Given the description of an element on the screen output the (x, y) to click on. 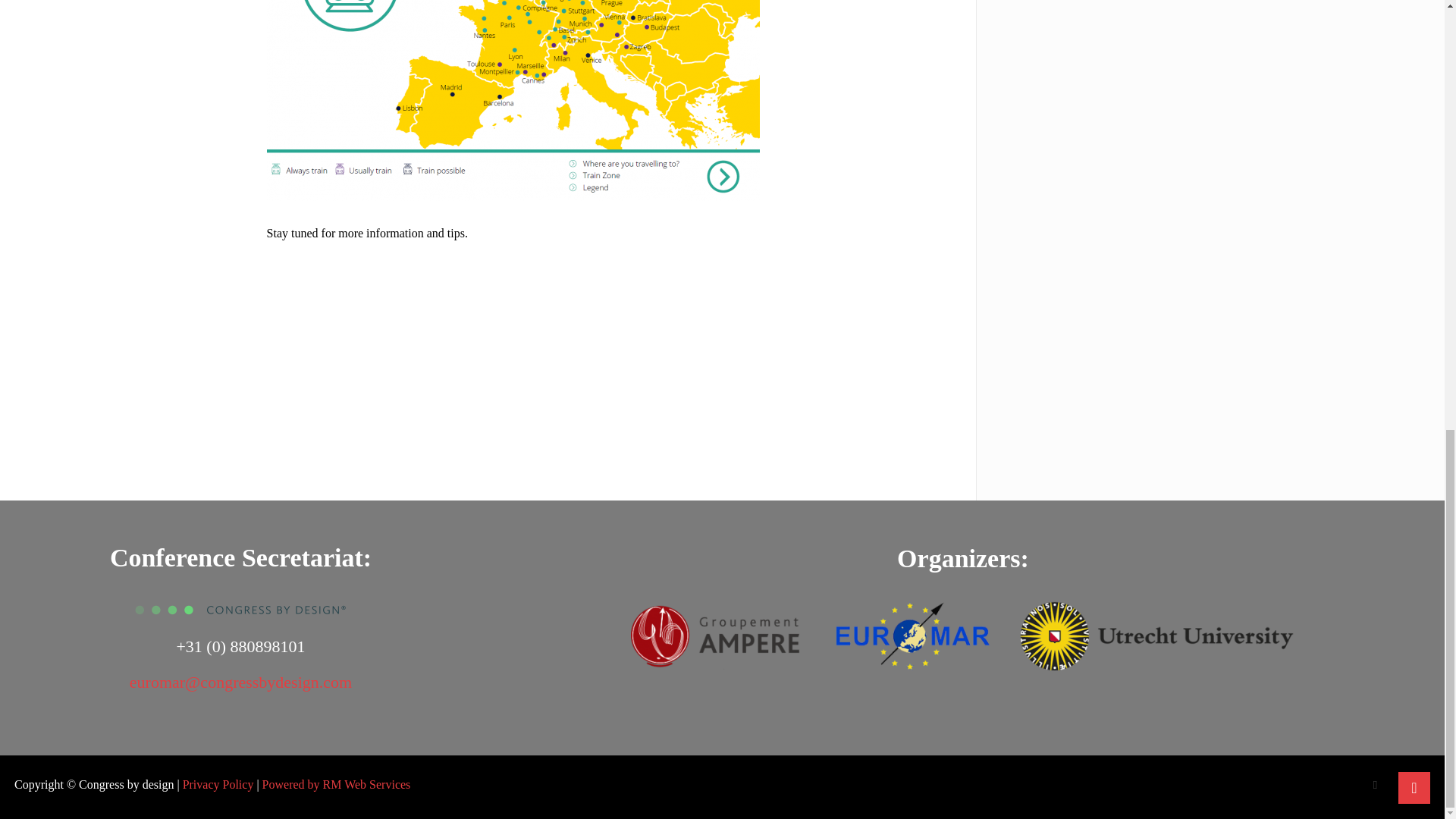
Powered by RM Web Services (336, 784)
Privacy Policy (218, 784)
Twitter (1375, 784)
Privacy Policy (218, 784)
Travel zone map (513, 100)
